Given the description of an element on the screen output the (x, y) to click on. 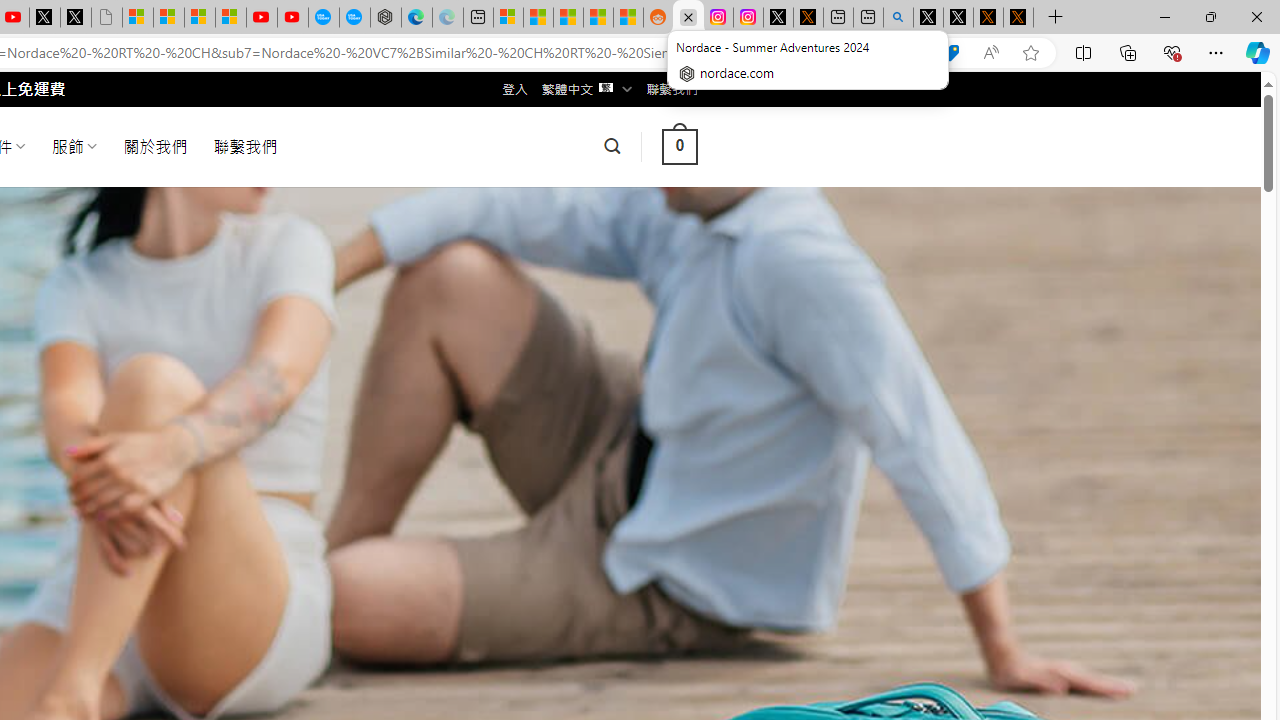
Browser essentials (1171, 52)
New Tab (1055, 17)
Restore (1210, 16)
github - Search (898, 17)
Add this page to favorites (Ctrl+D) (1030, 53)
Split screen (1083, 52)
